Given the description of an element on the screen output the (x, y) to click on. 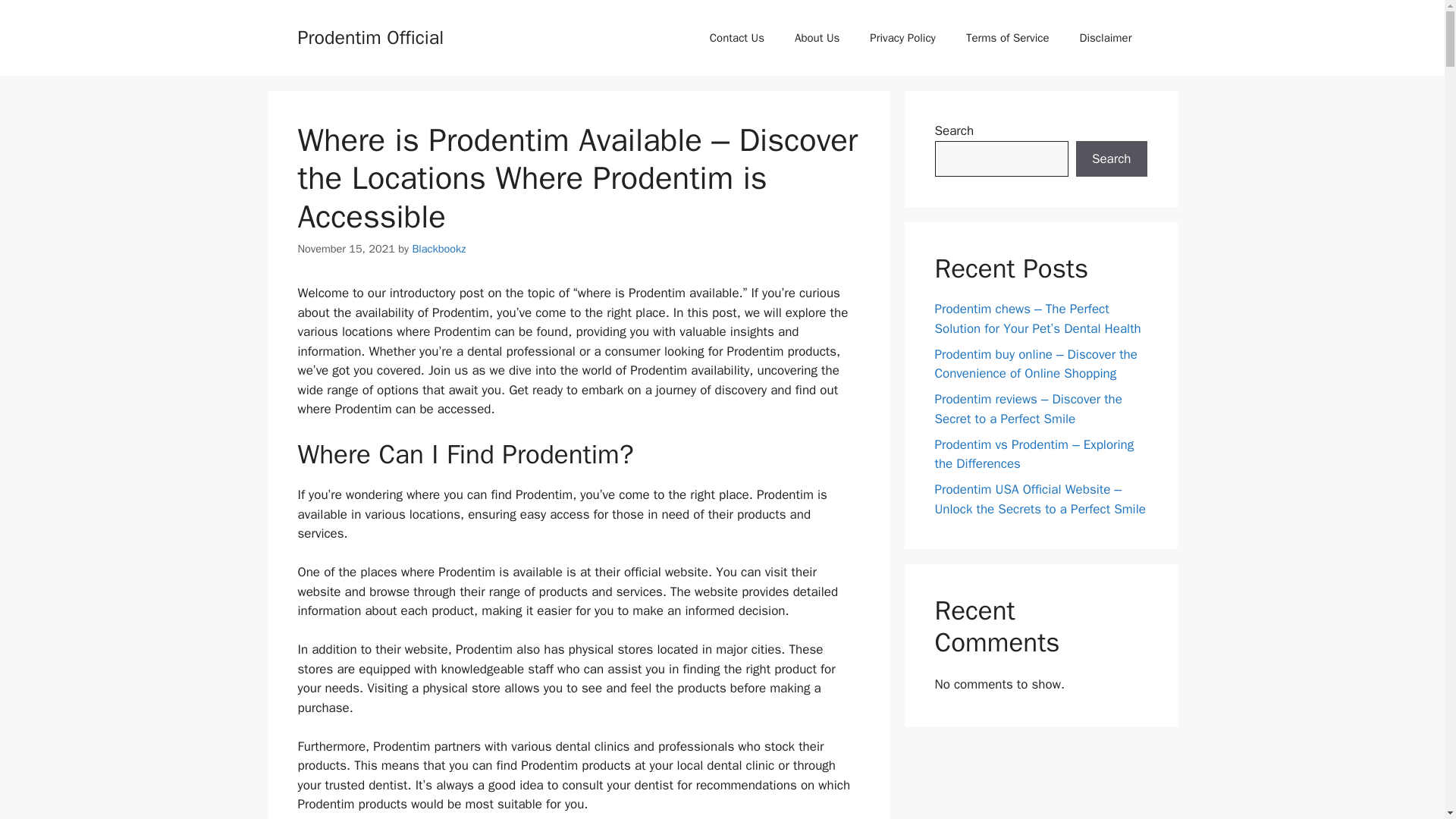
About Us (816, 37)
Privacy Policy (902, 37)
Contact Us (736, 37)
View all posts by Blackbookz (438, 248)
Blackbookz (438, 248)
Search (1111, 158)
Terms of Service (1007, 37)
Prodentim Official (370, 37)
Disclaimer (1105, 37)
